Given the description of an element on the screen output the (x, y) to click on. 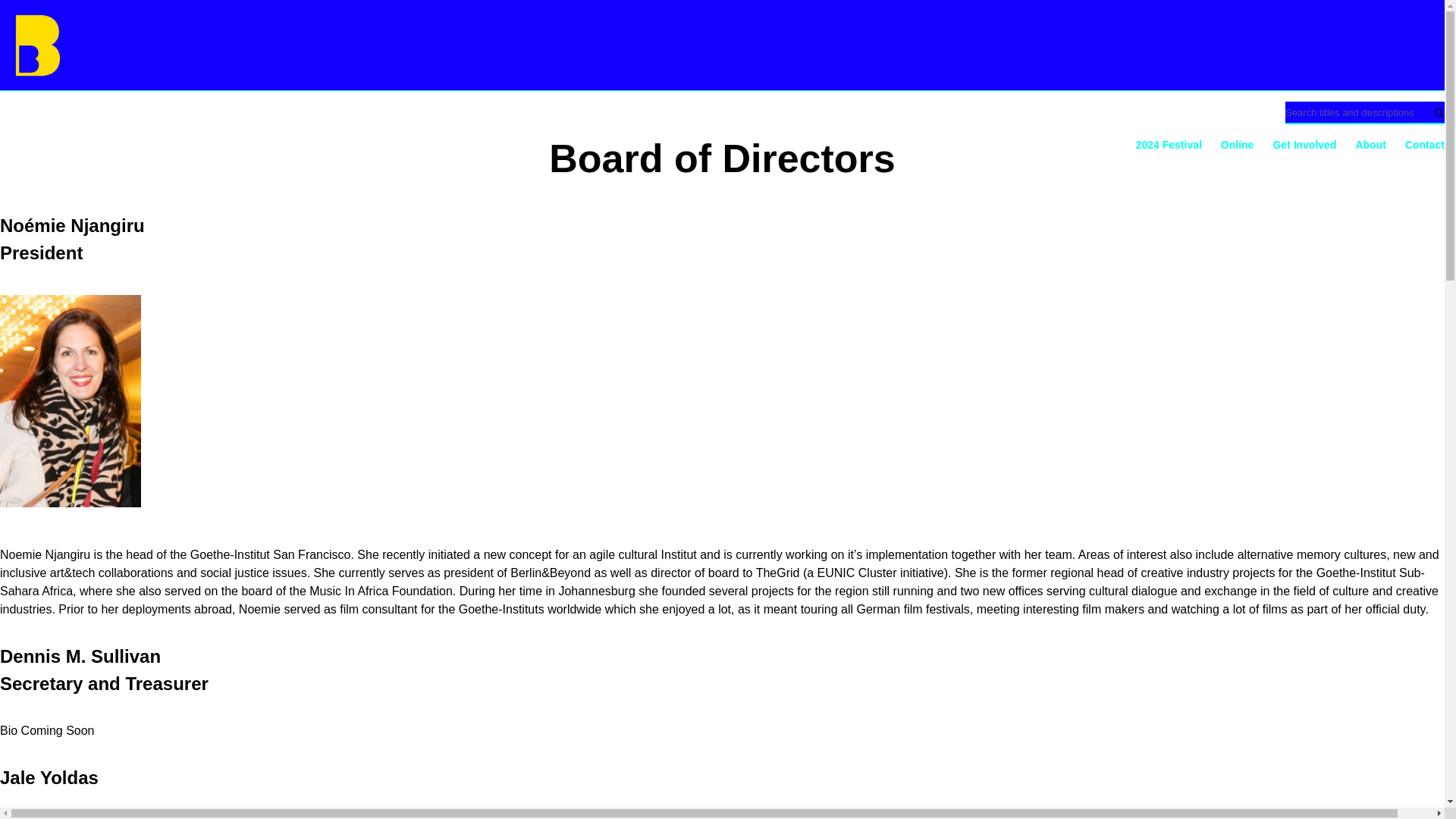
2024 Festival (1168, 145)
About (1370, 145)
Get Involved (1304, 145)
Online (1237, 145)
